Given the description of an element on the screen output the (x, y) to click on. 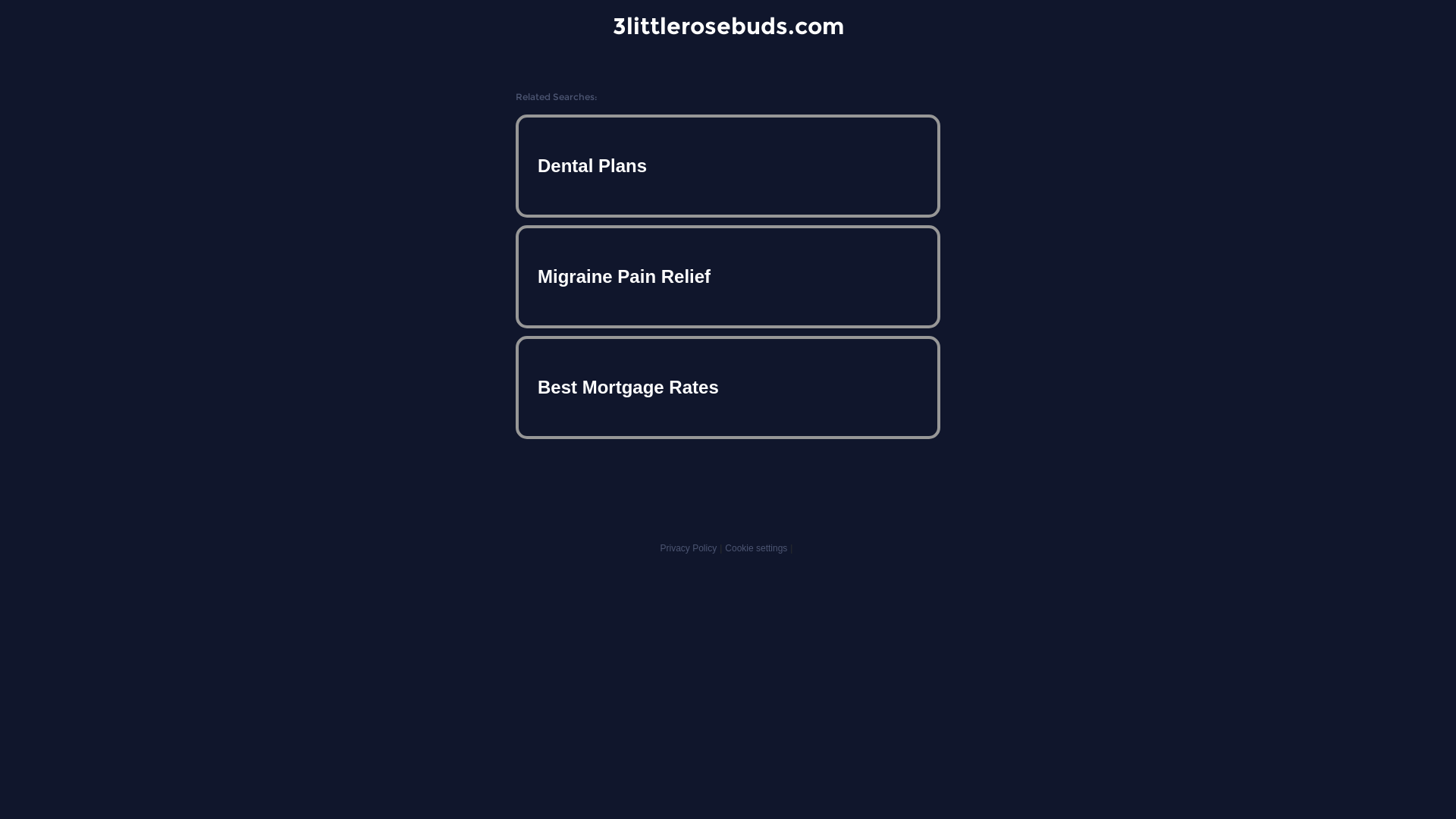
Cookie settings Element type: text (755, 547)
Privacy Policy Element type: text (687, 547)
Migraine Pain Relief Element type: text (727, 276)
Best Mortgage Rates Element type: text (727, 387)
Dental Plans Element type: text (727, 165)
3littlerosebuds.com Element type: text (728, 26)
